Given the description of an element on the screen output the (x, y) to click on. 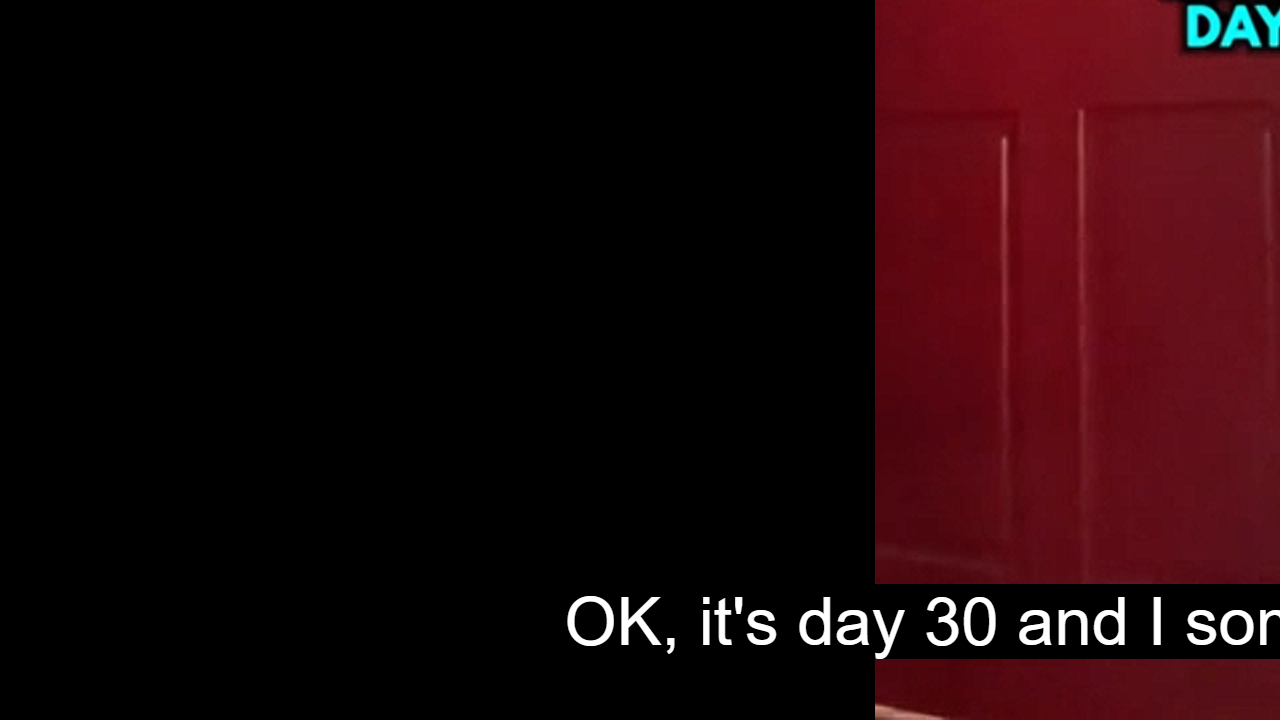
Pause (29, 697)
Seek Back (69, 697)
Seek Forward (109, 697)
